Given the description of an element on the screen output the (x, y) to click on. 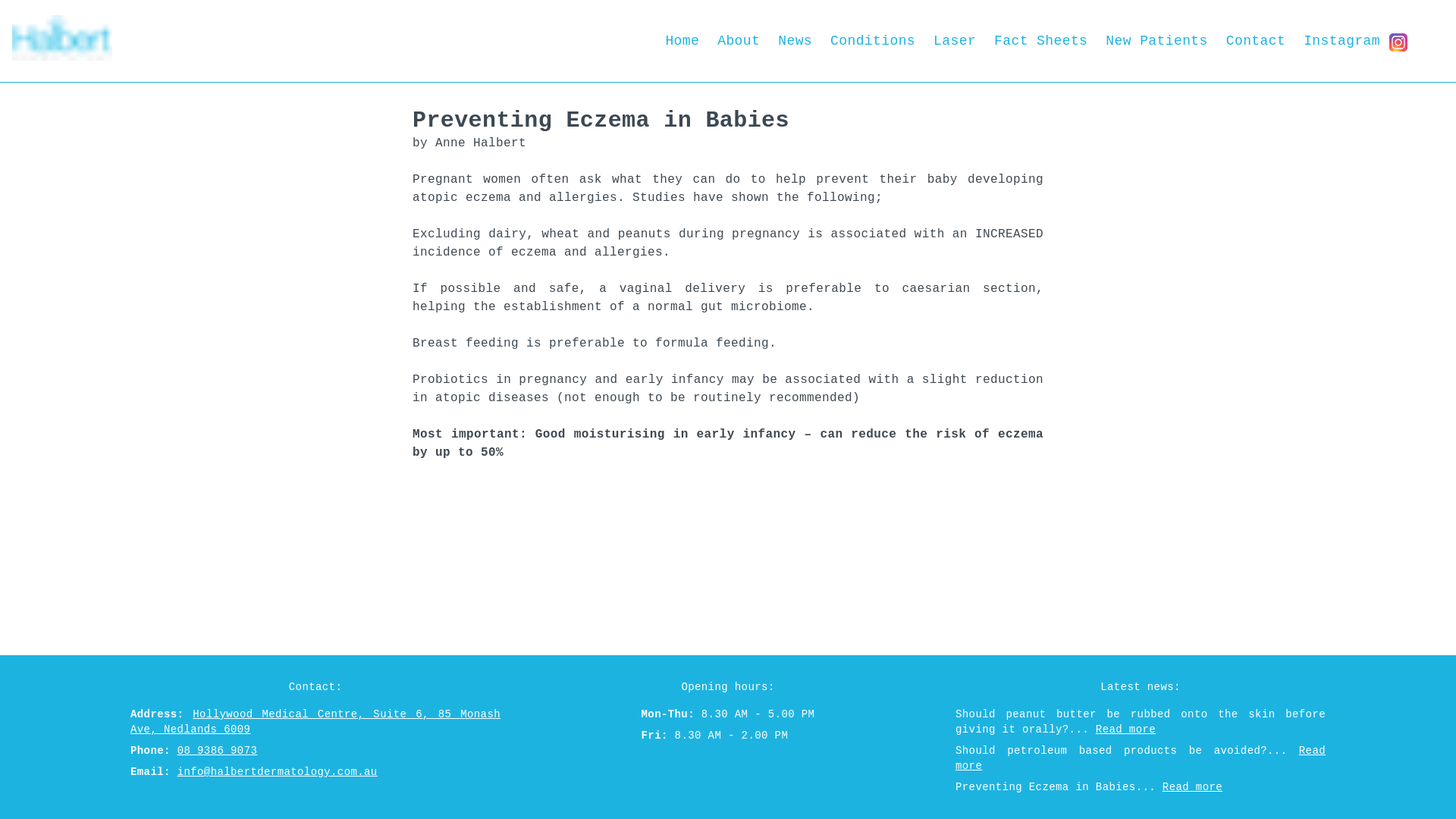
Read more Element type: text (1140, 757)
Read more Element type: text (1192, 787)
About Element type: text (738, 40)
News Element type: text (795, 40)
Laser Element type: text (954, 40)
Home Element type: text (682, 40)
Fact Sheets Element type: text (1040, 40)
Read more Element type: text (1125, 729)
New Patients Element type: text (1156, 40)
Instagram Element type: text (1355, 40)
Contact Element type: text (1255, 40)
08 9386 9073 Element type: text (217, 750)
Conditions Element type: text (872, 40)
info@halbertdermatology.com.au Element type: text (277, 771)
